Given the description of an element on the screen output the (x, y) to click on. 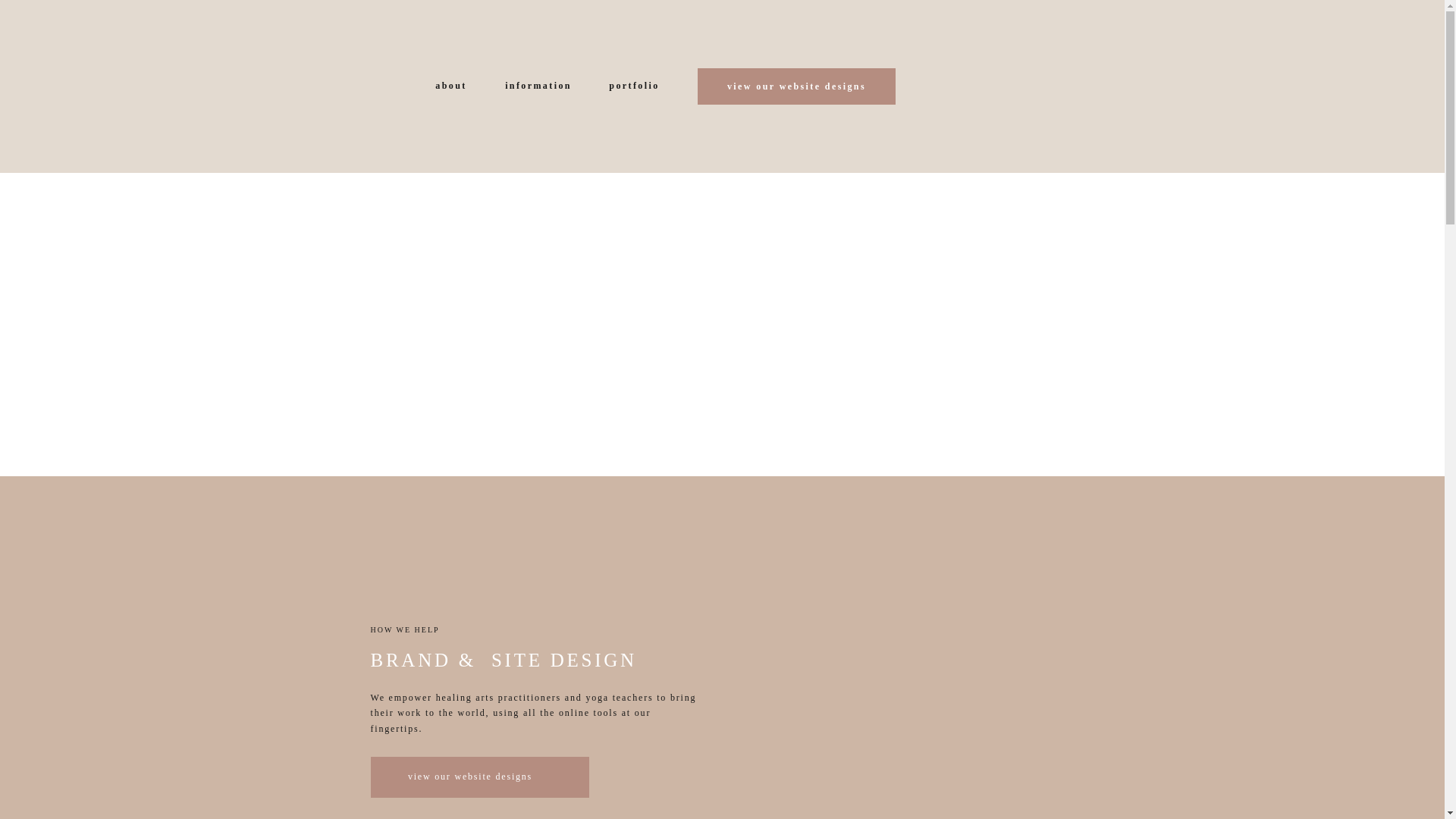
view our website designs (796, 86)
portfolio (634, 86)
information (538, 86)
about (450, 86)
view our website designs (469, 777)
